Given the description of an element on the screen output the (x, y) to click on. 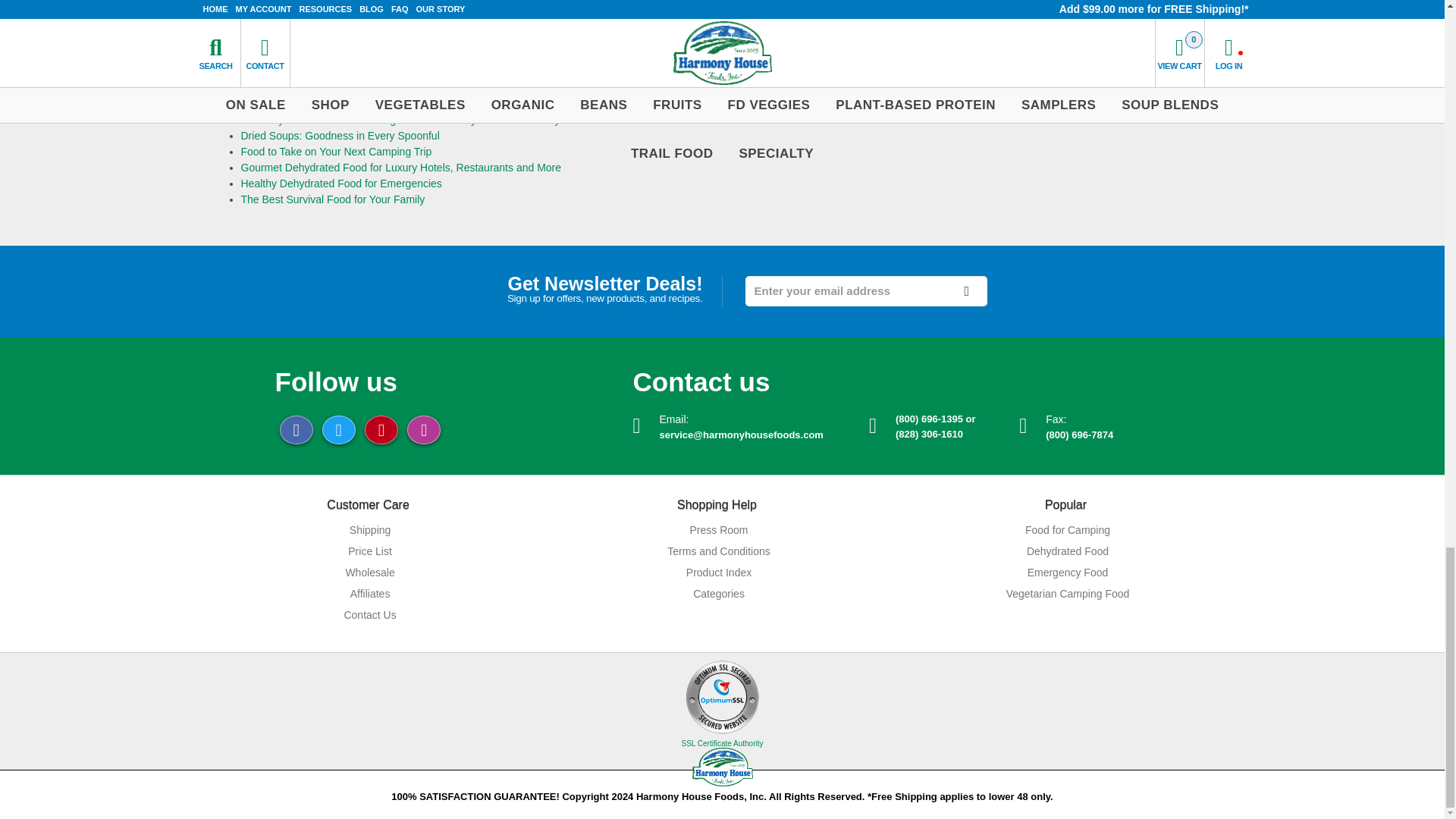
Stock Your Kitchen with Dried Food From Harmony House (381, 87)
The Best Survival Food for Your Family (333, 199)
The Convenience of Dried Soup (316, 71)
Harmony House Makes Ordering Wholesale Dehydrated Food Easy (400, 119)
Food for Camping (1065, 530)
Award Winning Food for Camping (320, 55)
Follow Us on Twitter (338, 429)
Healthy Dehydrated Food for Emergencies (341, 183)
Follow Us on Pinterest (380, 429)
